Given the description of an element on the screen output the (x, y) to click on. 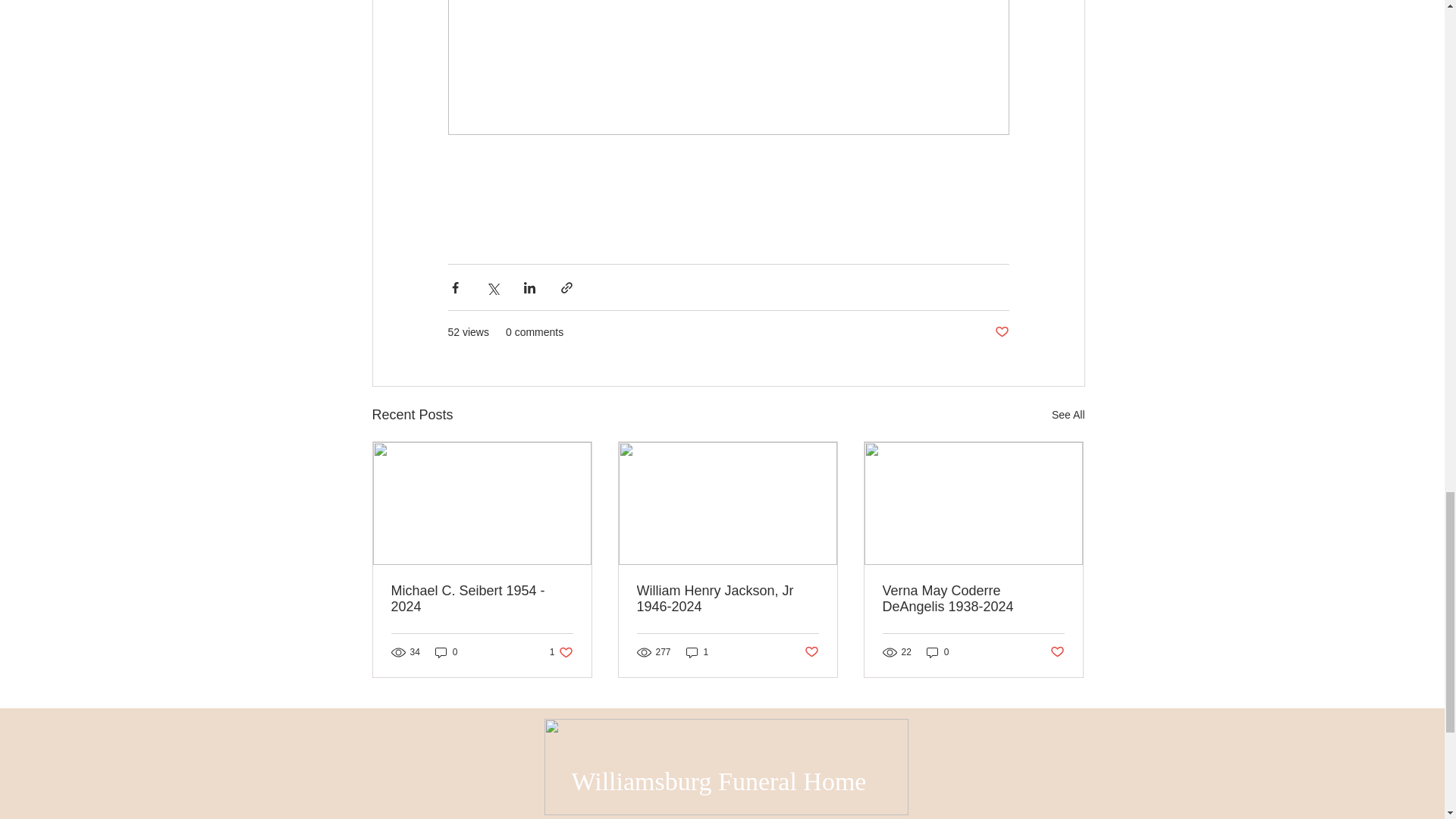
Post not marked as liked (1056, 652)
Michael C. Seibert 1954 - 2024 (561, 652)
1 (482, 599)
Post not marked as liked (697, 652)
William Henry Jackson, Jr 1946-2024 (1001, 332)
0 (727, 599)
See All (937, 652)
Verna May Coderre DeAngelis 1938-2024 (1067, 414)
0 (973, 599)
Post not marked as liked (446, 652)
